Given the description of an element on the screen output the (x, y) to click on. 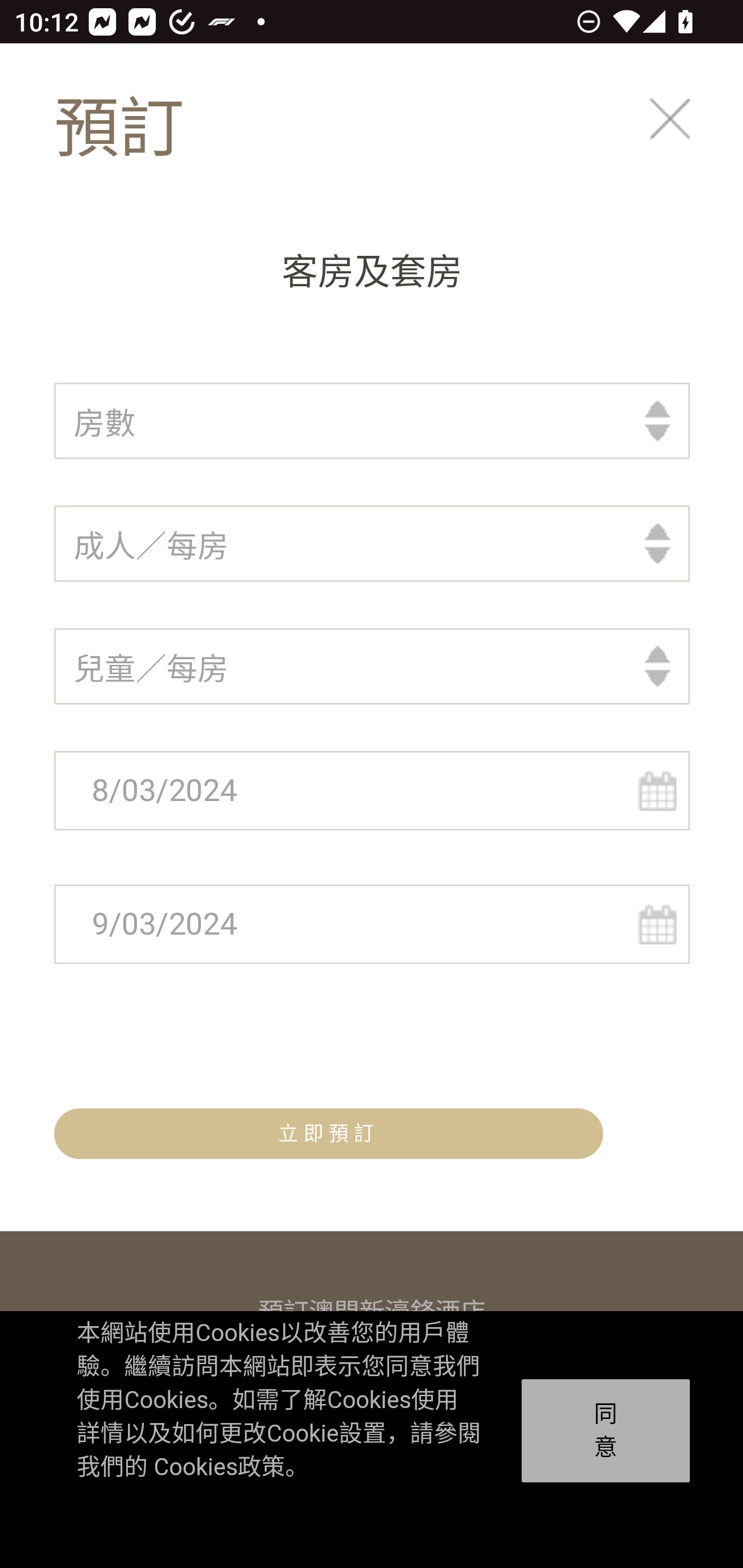
Logo (140, 129)
ico_menu (687, 130)
8/03/2024 (372, 791)
9/03/2024 (372, 924)
立即預訂 (328, 1134)
同意 (605, 1431)
Cookies政策 (218, 1467)
